Given the description of an element on the screen output the (x, y) to click on. 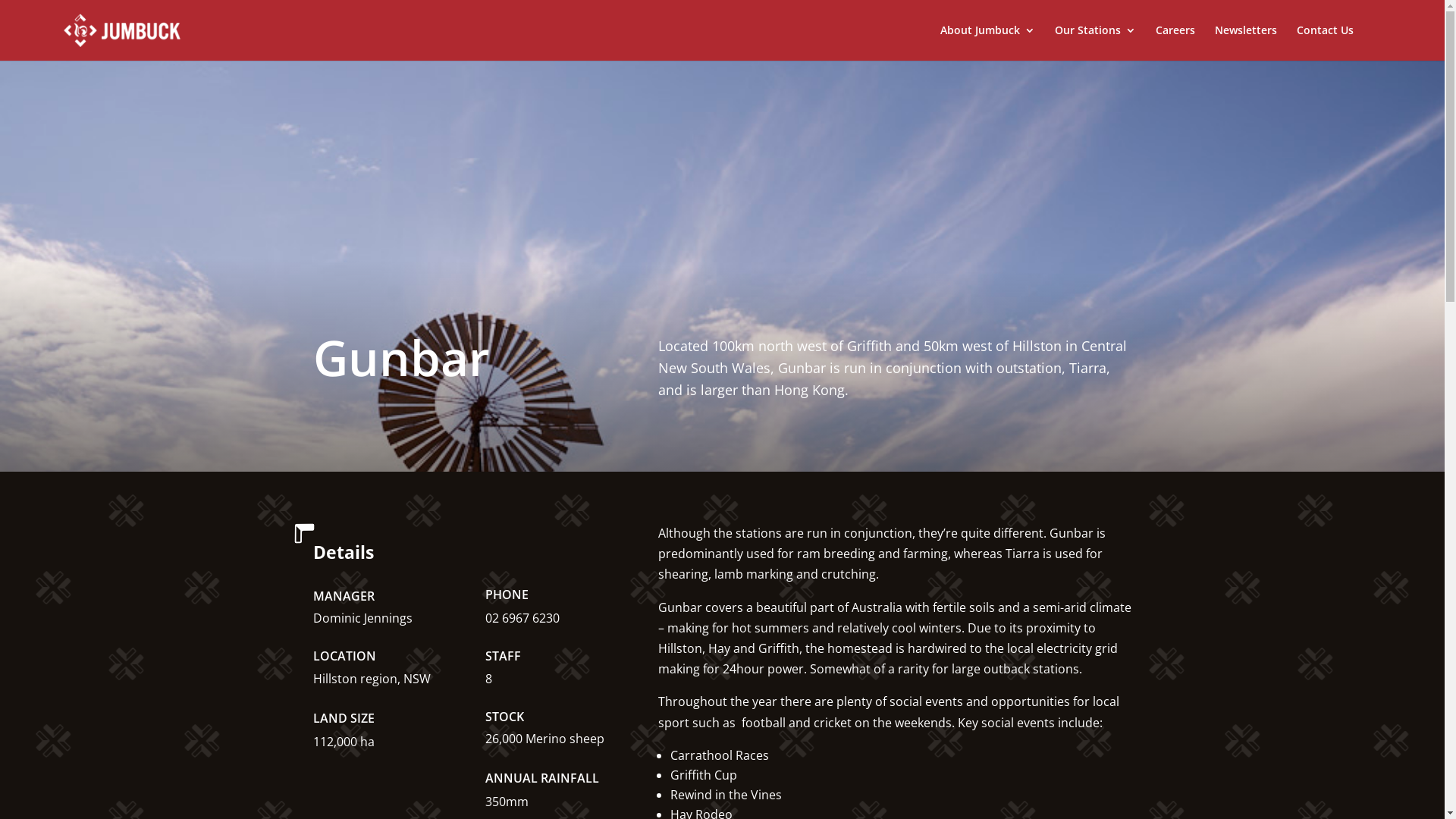
About Jumbuck Element type: text (987, 42)
Contact Us Element type: text (1324, 42)
Our Stations Element type: text (1094, 42)
Newsletters Element type: text (1245, 42)
Careers Element type: text (1175, 42)
